Given the description of an element on the screen output the (x, y) to click on. 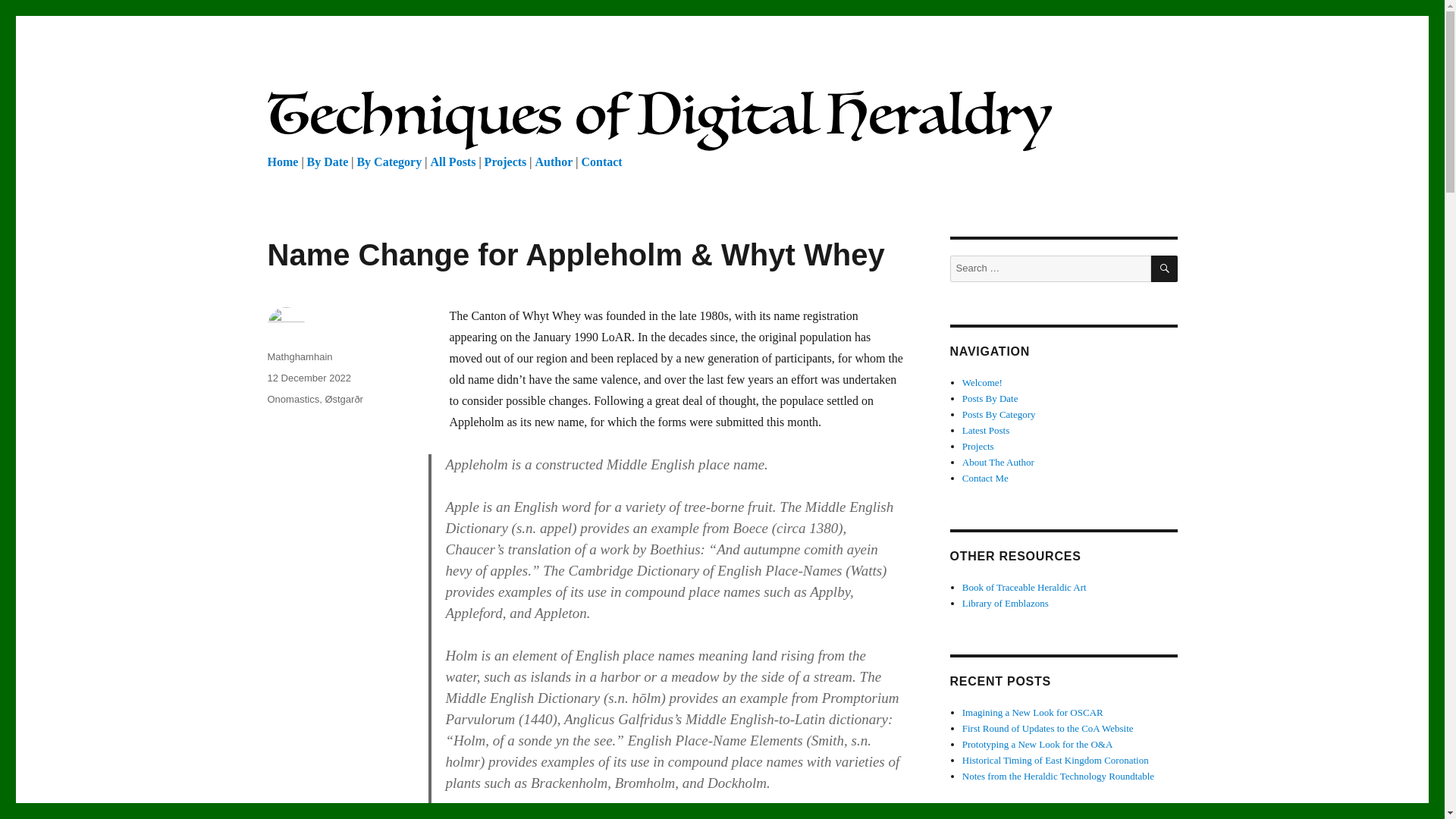
Contact Me (985, 478)
Projects (505, 161)
All Posts (452, 161)
Library of Emblazons (1005, 603)
Home (282, 161)
Author (553, 161)
Mathghamhain (298, 356)
Contact (600, 161)
About The Author (997, 461)
Notes from the Heraldic Technology Roundtable (1058, 776)
Historical Timing of East Kingdom Coronation (1055, 759)
By Date (328, 161)
Projects (978, 446)
Posts By Date (989, 398)
12 December 2022 (308, 378)
